Given the description of an element on the screen output the (x, y) to click on. 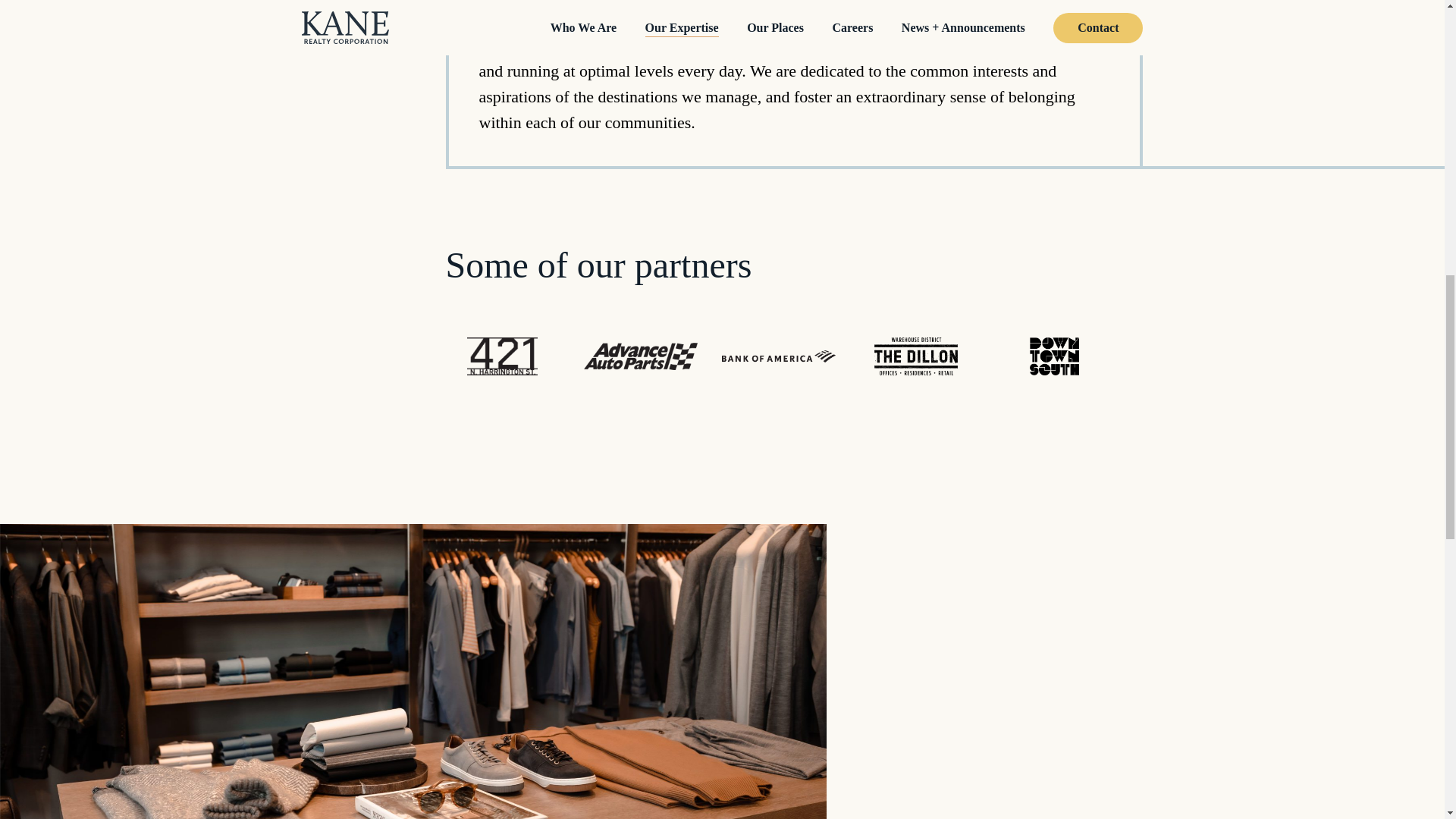
Bank of America Logo (778, 356)
DS-Logo-Black-Stkd (1054, 356)
Advance Auto Parts Logo (640, 356)
The Dillon Logo (917, 356)
421 N. Harrington Logo (502, 356)
